Given the description of an element on the screen output the (x, y) to click on. 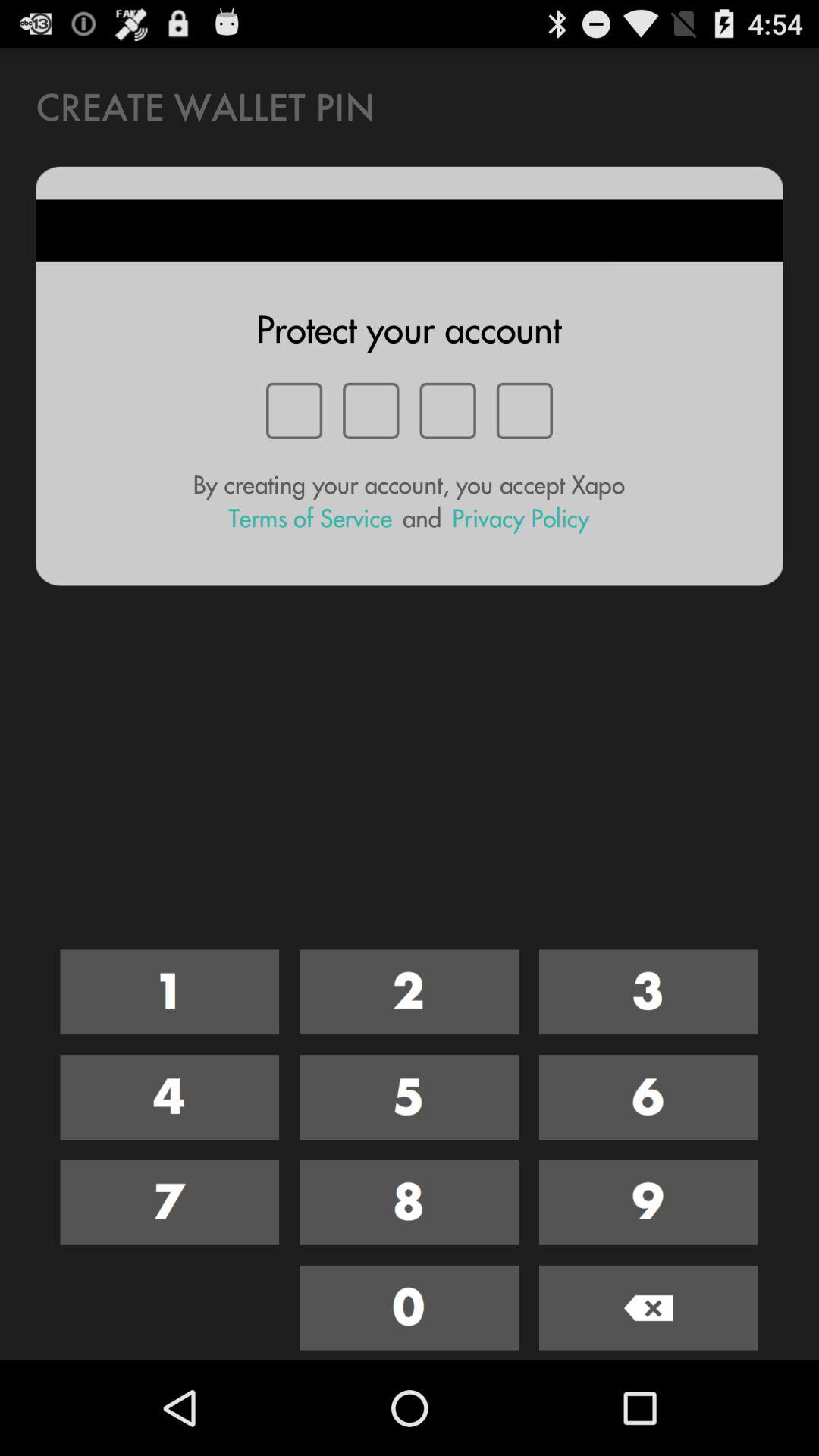
launch privacy policy item (520, 518)
